Given the description of an element on the screen output the (x, y) to click on. 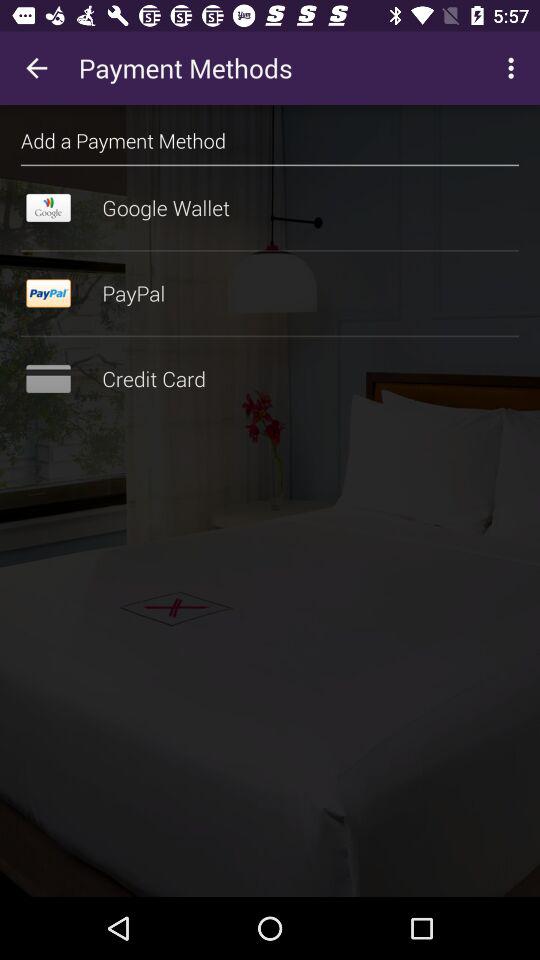
turn on the icon next to the payment methods icon (36, 68)
